Given the description of an element on the screen output the (x, y) to click on. 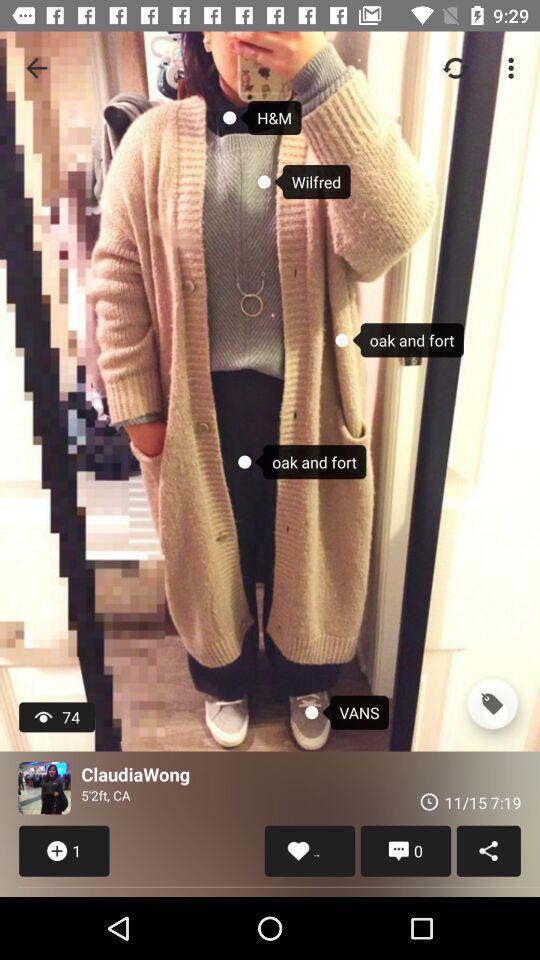
user 's profile picture (44, 788)
